Given the description of an element on the screen output the (x, y) to click on. 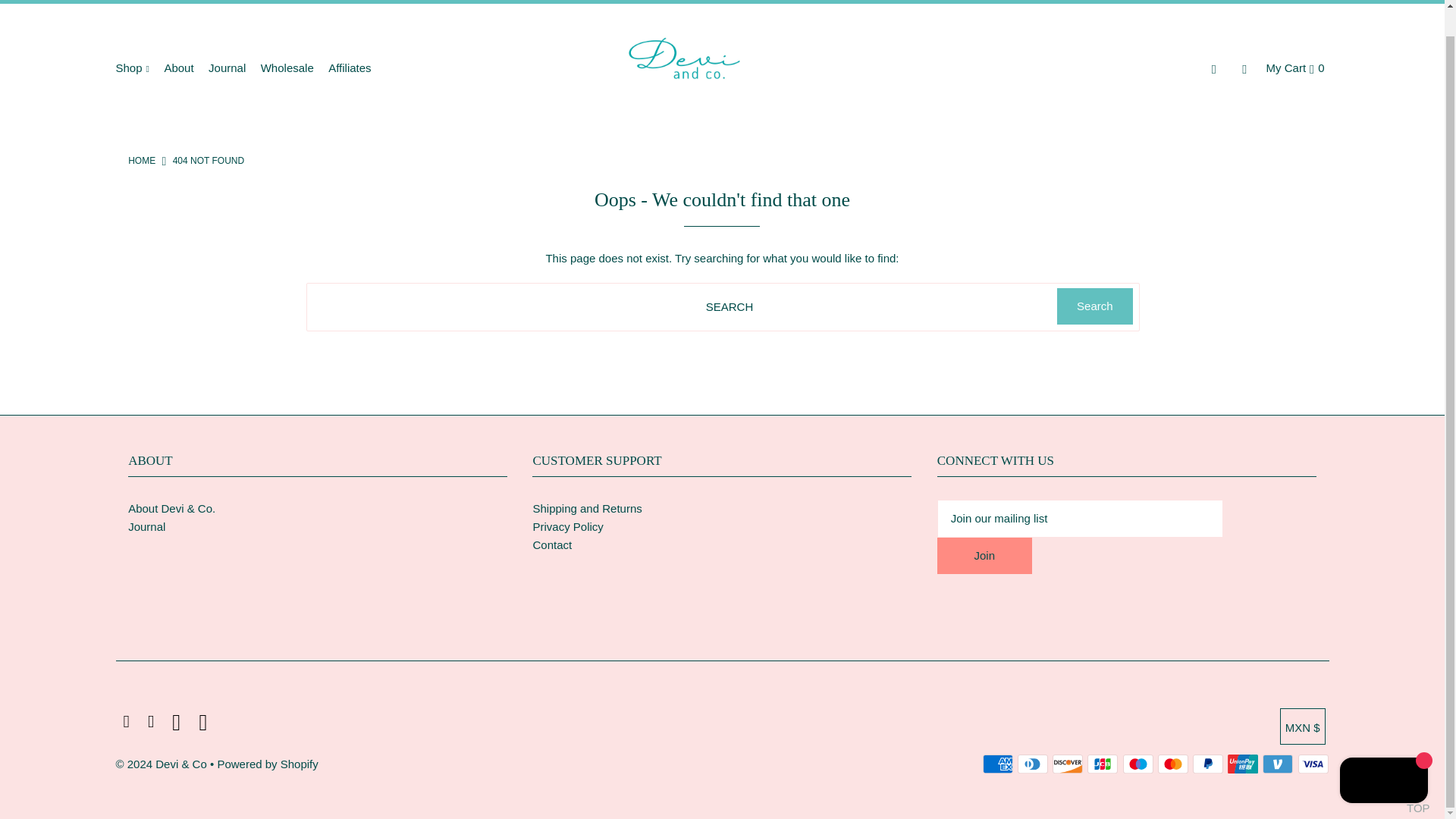
About (184, 67)
Venmo (1277, 763)
Join (984, 555)
Wholesale (292, 67)
American Express (997, 763)
Union Pay (1242, 763)
Shop (137, 67)
PayPal (1207, 763)
Journal (232, 67)
Search (1094, 306)
My Cart0 (1295, 67)
Shopify online store chat (1383, 755)
JCB (1102, 763)
HOME (141, 160)
Home (141, 160)
